Given the description of an element on the screen output the (x, y) to click on. 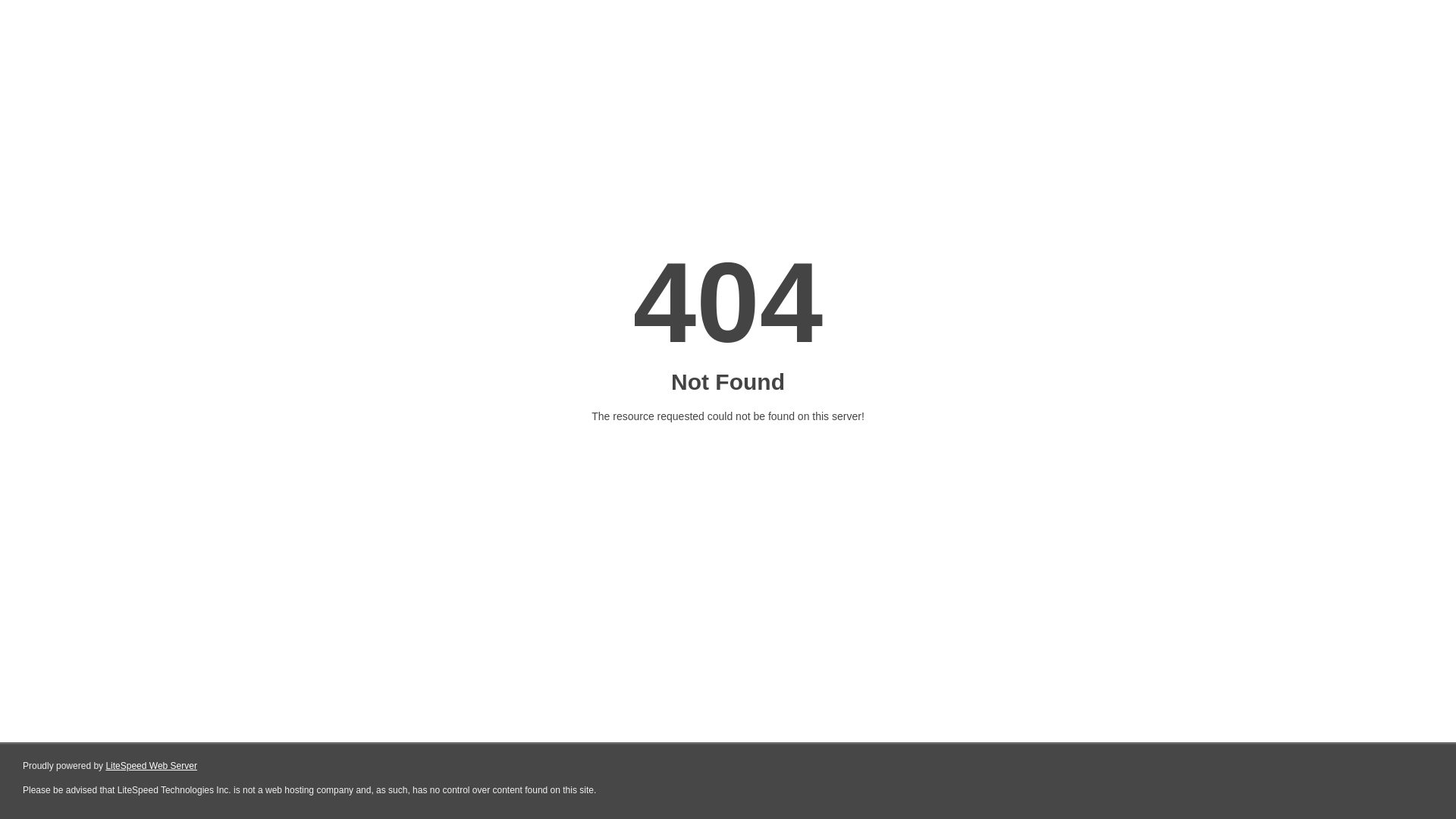
LiteSpeed Web Server Element type: text (151, 765)
